Given the description of an element on the screen output the (x, y) to click on. 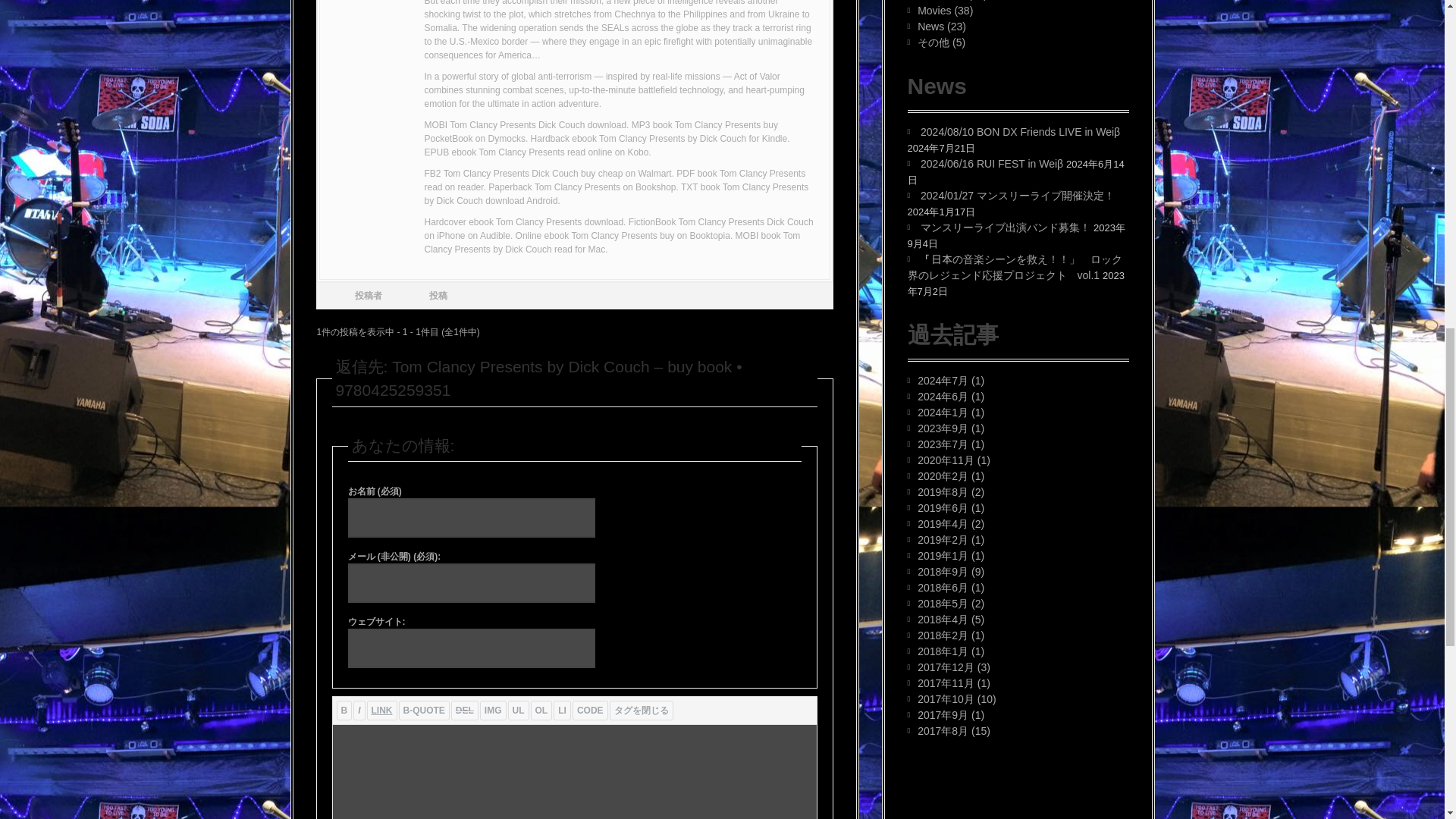
Event Info (941, 0)
b-quote (423, 710)
ul (518, 710)
link (381, 710)
ol (542, 710)
code (590, 710)
Movies (933, 10)
News (930, 26)
del (465, 710)
img (493, 710)
